Given the description of an element on the screen output the (x, y) to click on. 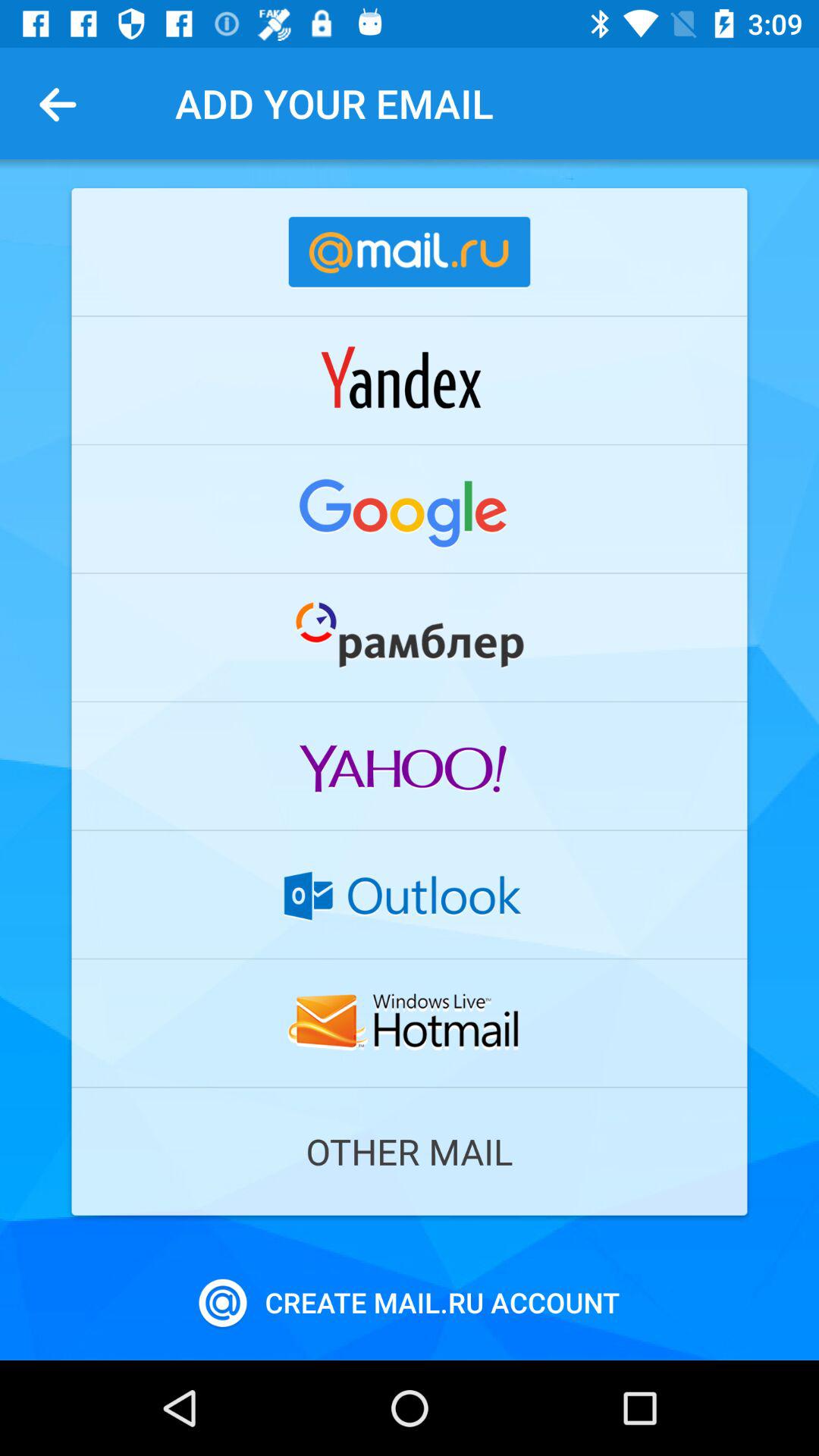
go to yandex (409, 380)
